Given the description of an element on the screen output the (x, y) to click on. 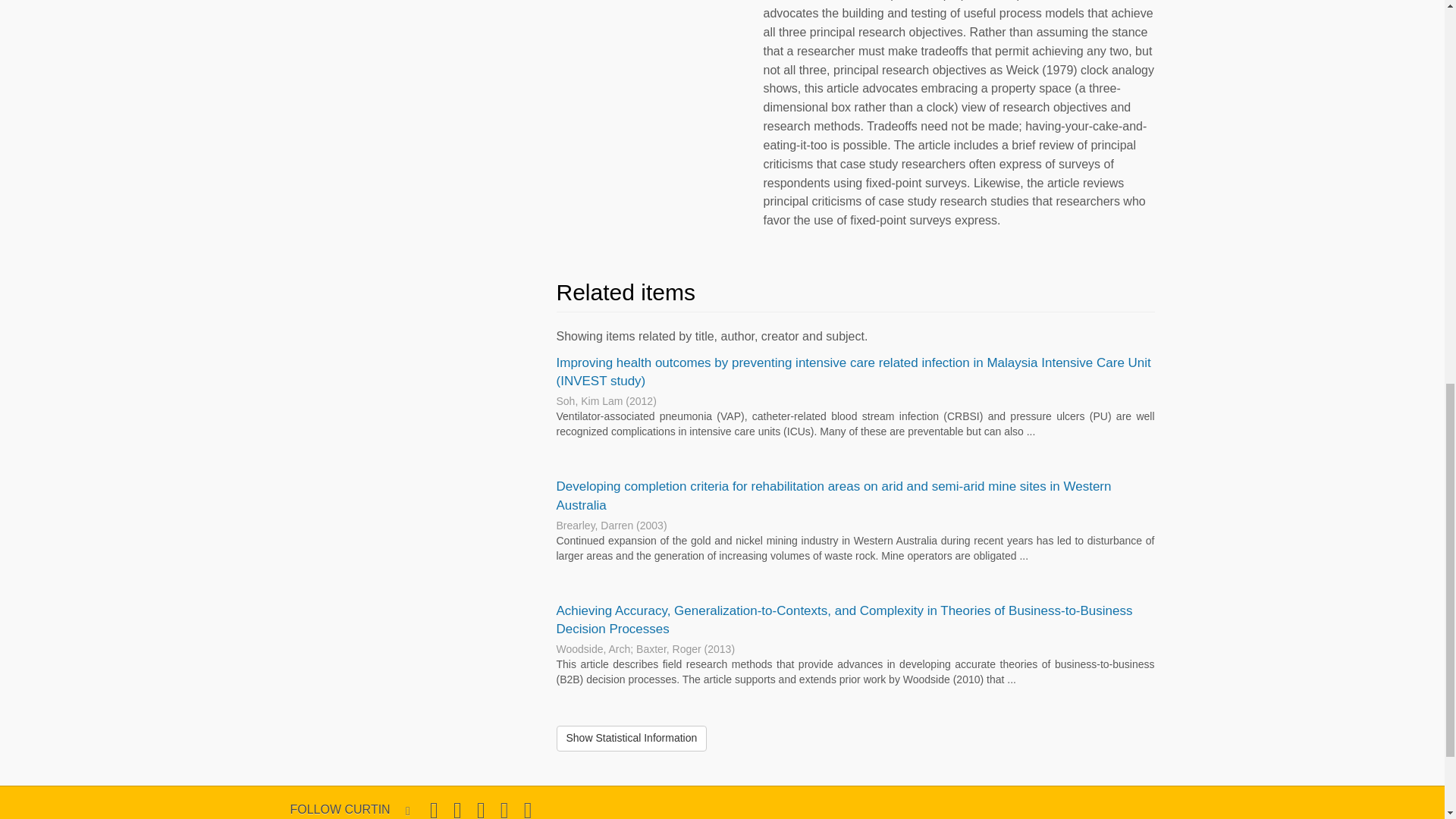
Show Statistical Information (631, 738)
